Given the description of an element on the screen output the (x, y) to click on. 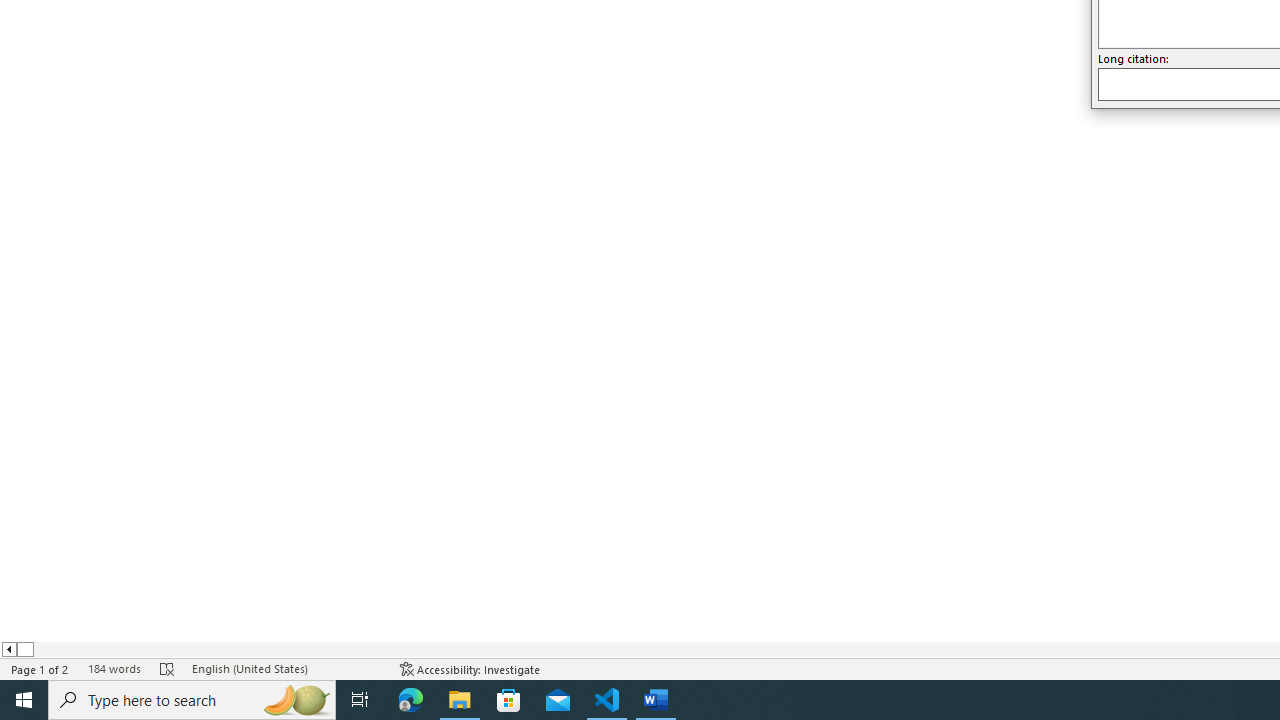
Microsoft Edge (411, 699)
Word Count 184 words (113, 668)
Word - 1 running window (656, 699)
Column left (8, 649)
Page Number Page 1 of 2 (39, 668)
File Explorer - 1 running window (460, 699)
